Given the description of an element on the screen output the (x, y) to click on. 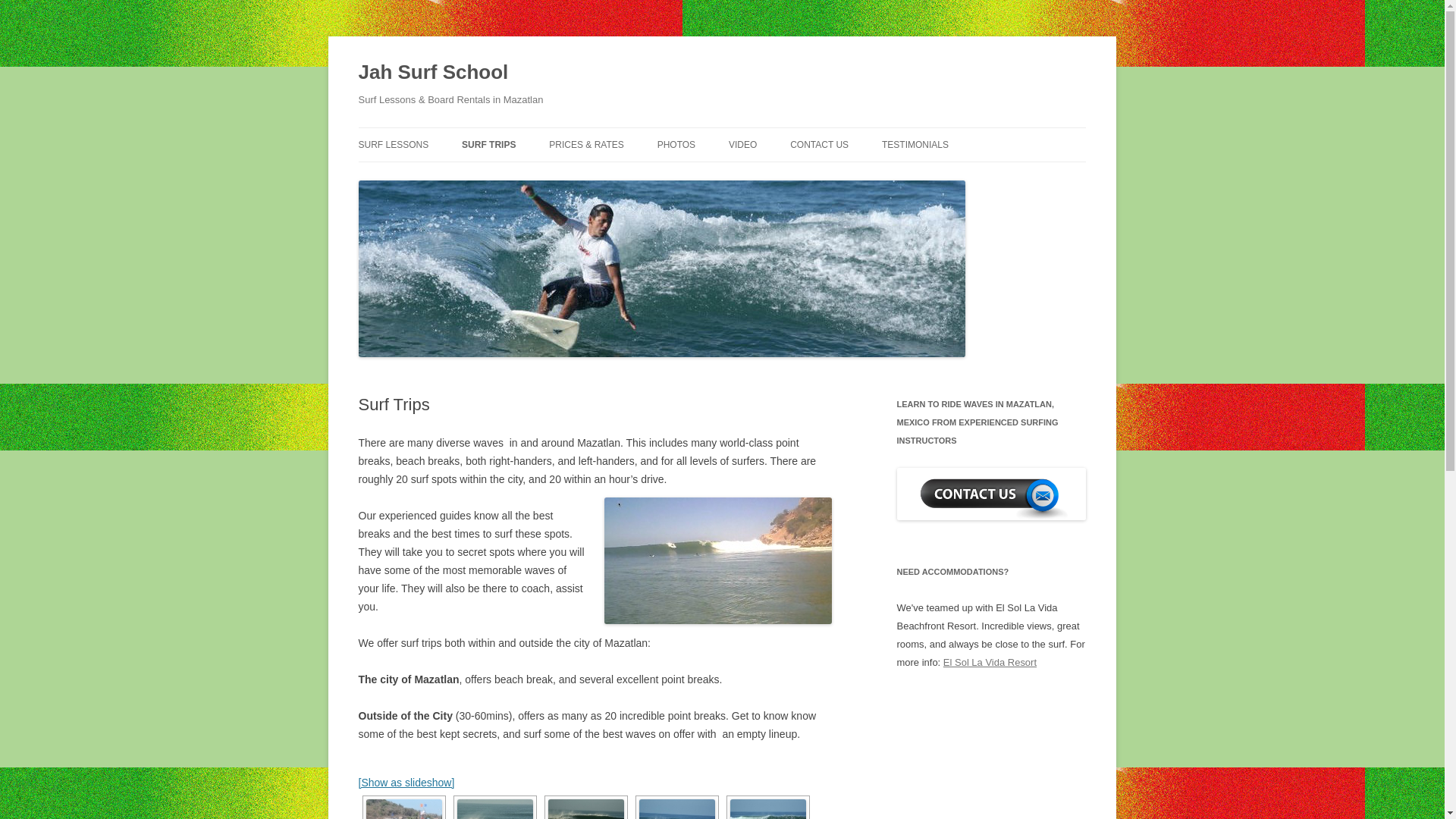
na-038 (494, 809)
SURF TRIPS (488, 144)
Jah Surf School (433, 72)
Jah Surf School (433, 72)
SURF INSTRUCTORS (733, 176)
TESTIMONIALS (915, 144)
na-053 (767, 809)
Testimonials (915, 144)
PHOTOS (676, 144)
